Given the description of an element on the screen output the (x, y) to click on. 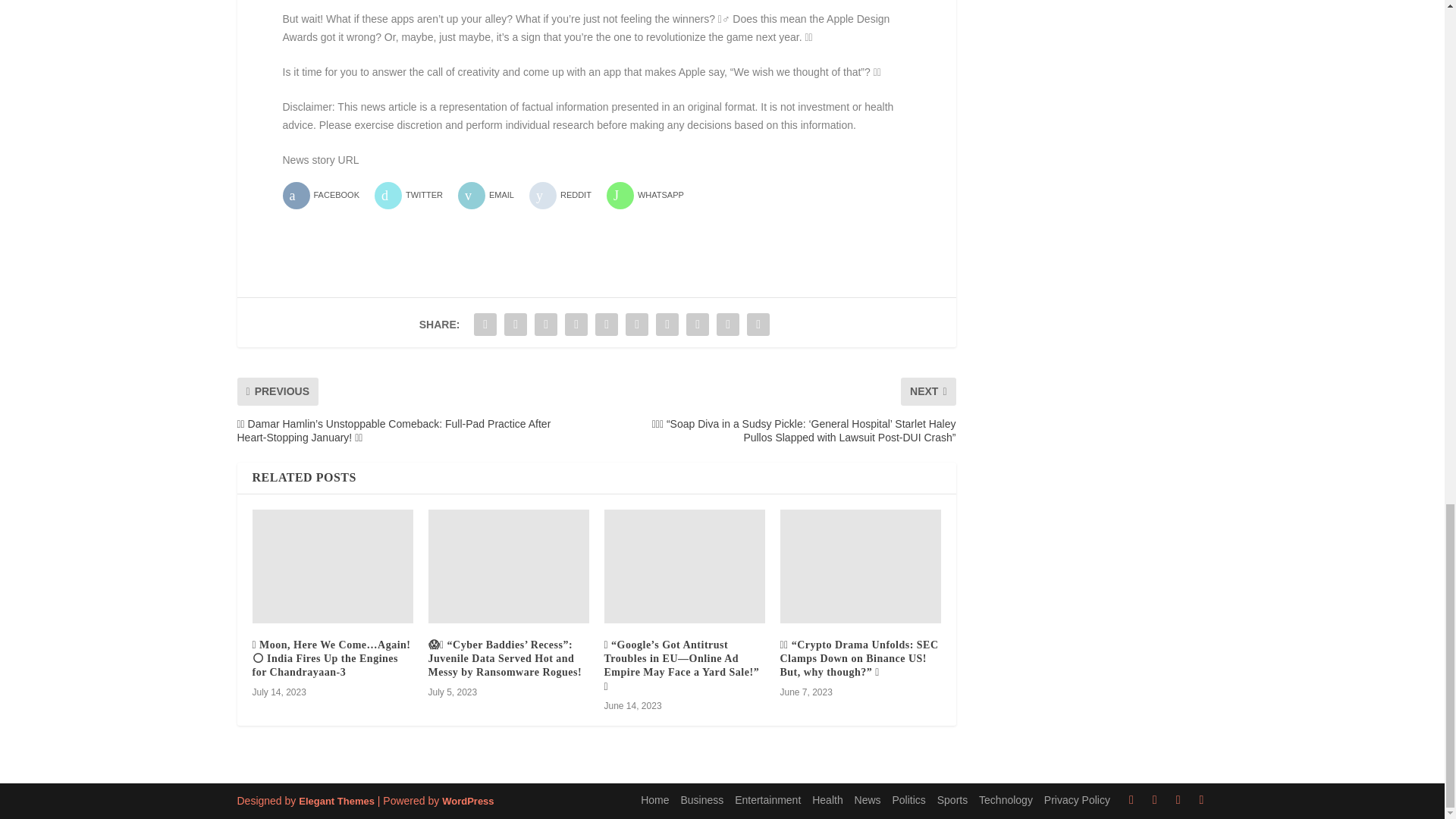
Share on Reddit (565, 195)
Share on WhatsApp (651, 195)
Share on Facebook (326, 195)
TWITTER (414, 195)
REDDIT (565, 195)
Share on Email (491, 195)
WHATSAPP (651, 195)
Share on Twitter (414, 195)
EMAIL (491, 195)
FACEBOOK (326, 195)
